Given the description of an element on the screen output the (x, y) to click on. 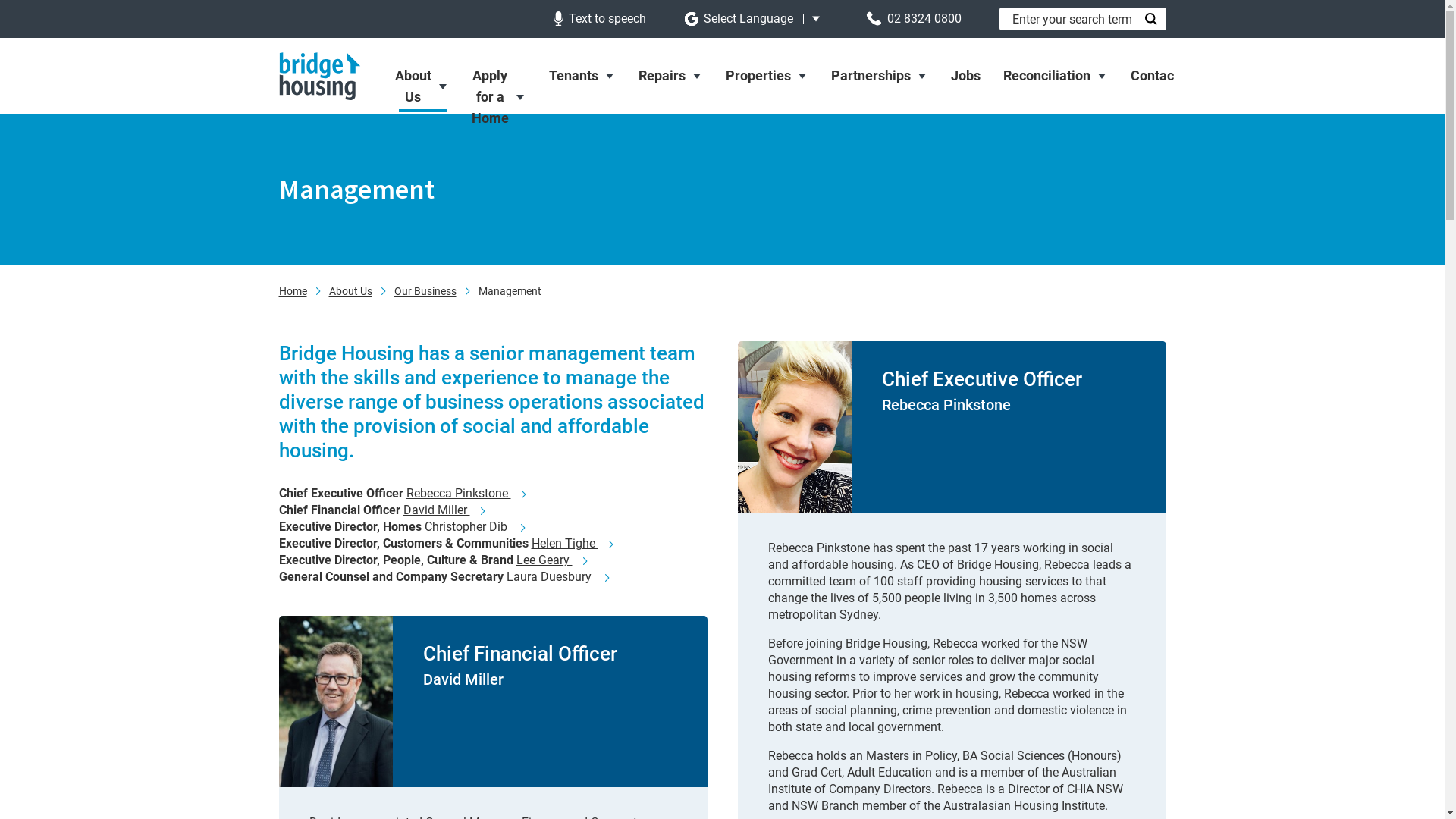
Apply for a Home Element type: text (497, 96)
Lee Geary Element type: text (550, 560)
Our Business Element type: text (425, 291)
02 8324 0800 Element type: text (913, 18)
Contact Element type: text (1154, 75)
Jobs Element type: text (964, 75)
Properties Element type: text (766, 75)
Tenants Element type: text (581, 75)
Rebecca Pinkstone Element type: text (465, 493)
David Miller Element type: text (443, 510)
Laura Duesbury Element type: text (557, 576)
Partnerships Element type: text (878, 75)
Repairs Element type: text (669, 75)
Home Element type: text (293, 291)
About Us Element type: text (350, 291)
Helen Tighe Element type: text (570, 543)
Christopher Dib Element type: text (474, 526)
Text to speech Element type: text (599, 18)
Search Element type: text (1150, 18)
About Us Element type: text (421, 85)
Reconciliation Element type: text (1055, 75)
